Given the description of an element on the screen output the (x, y) to click on. 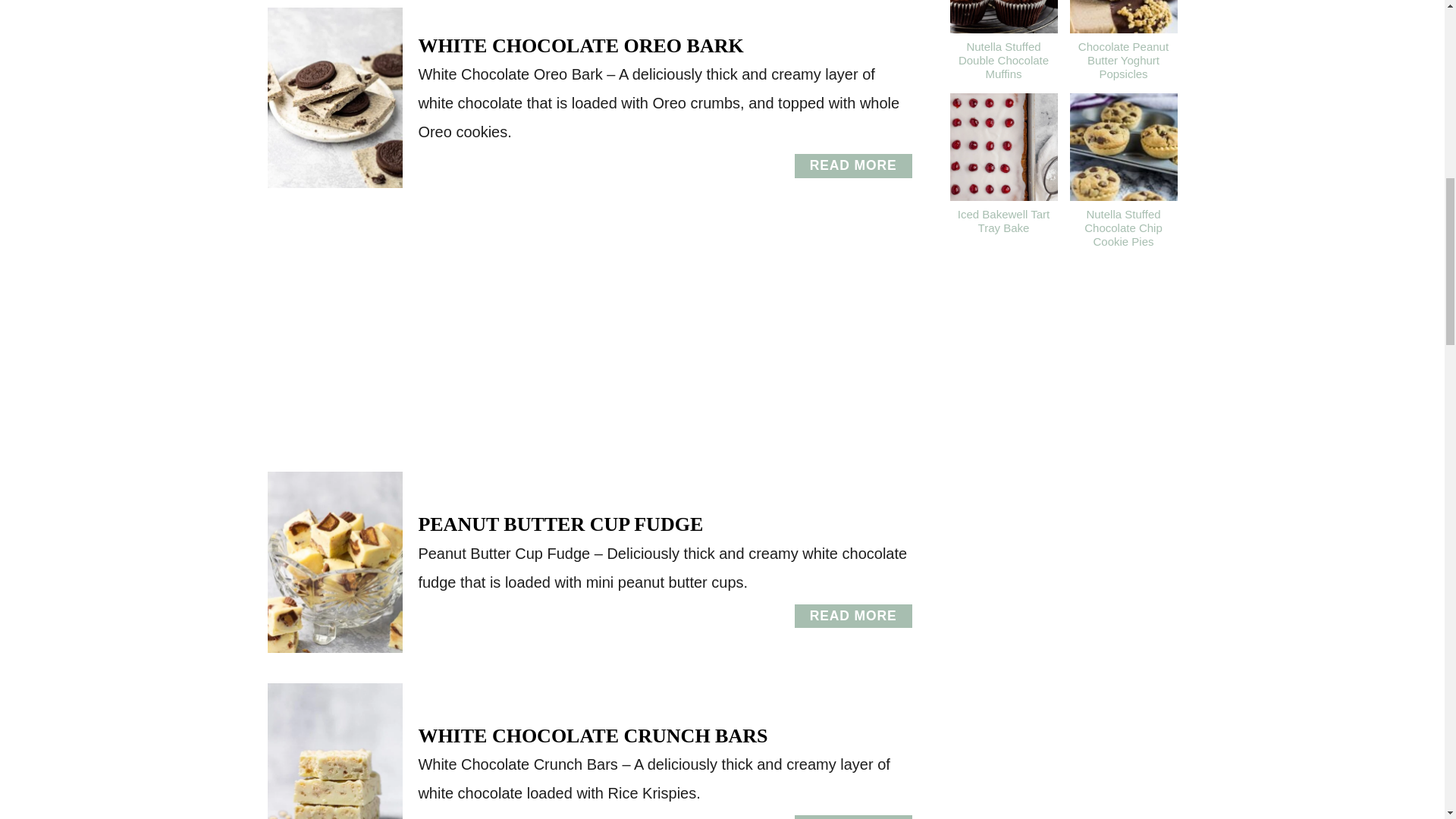
WHITE CHOCOLATE OREO BARK (579, 45)
WHITE CHOCOLATE CRUNCH BARS (592, 735)
White Chocolate Crunch Bars (853, 616)
PEANUT BUTTER CUP FUDGE (853, 165)
